Given the description of an element on the screen output the (x, y) to click on. 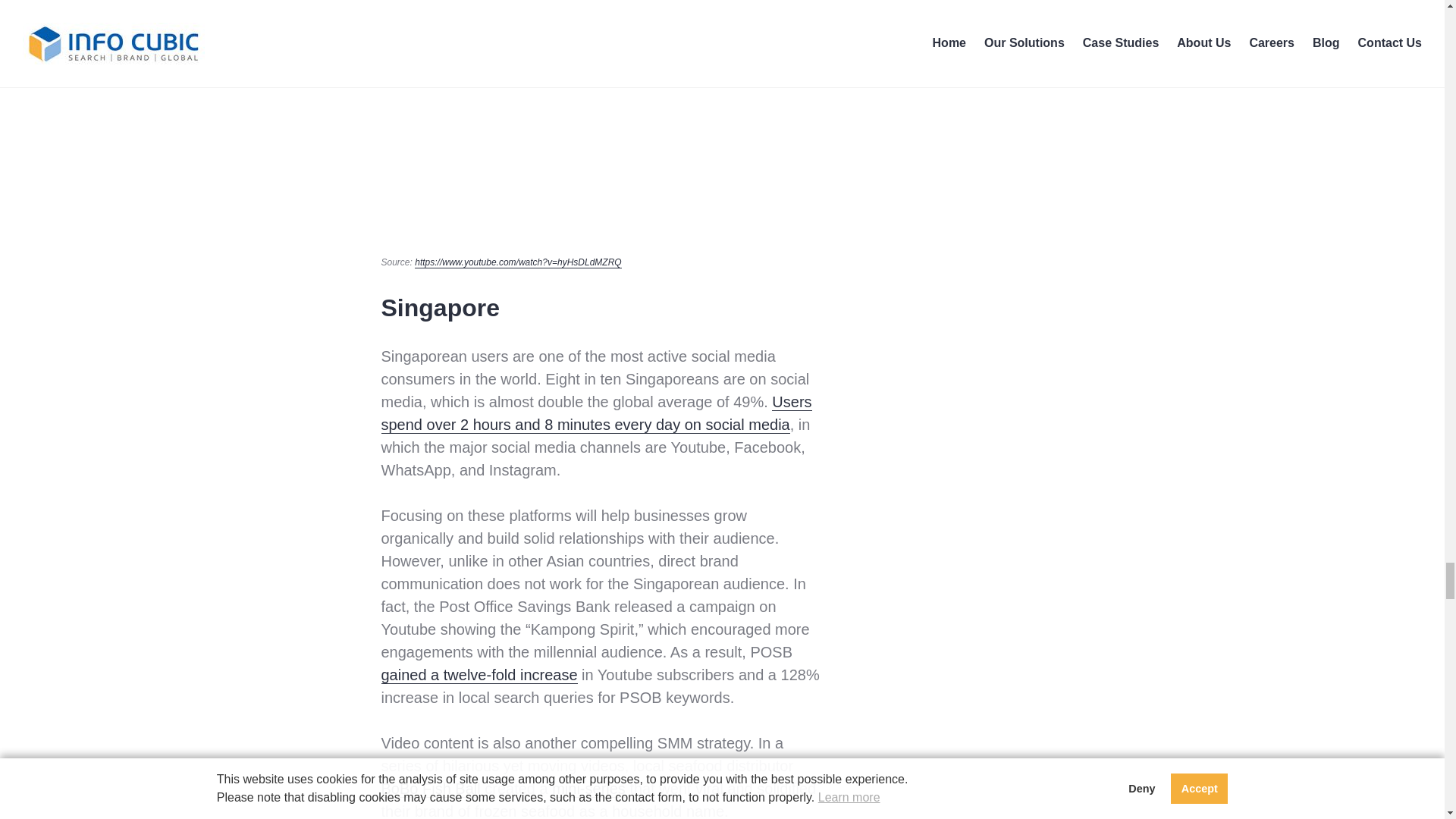
BoBo Fish Ball (430, 788)
gained a twelve-fold increase (478, 674)
mini-series (588, 788)
